Given the description of an element on the screen output the (x, y) to click on. 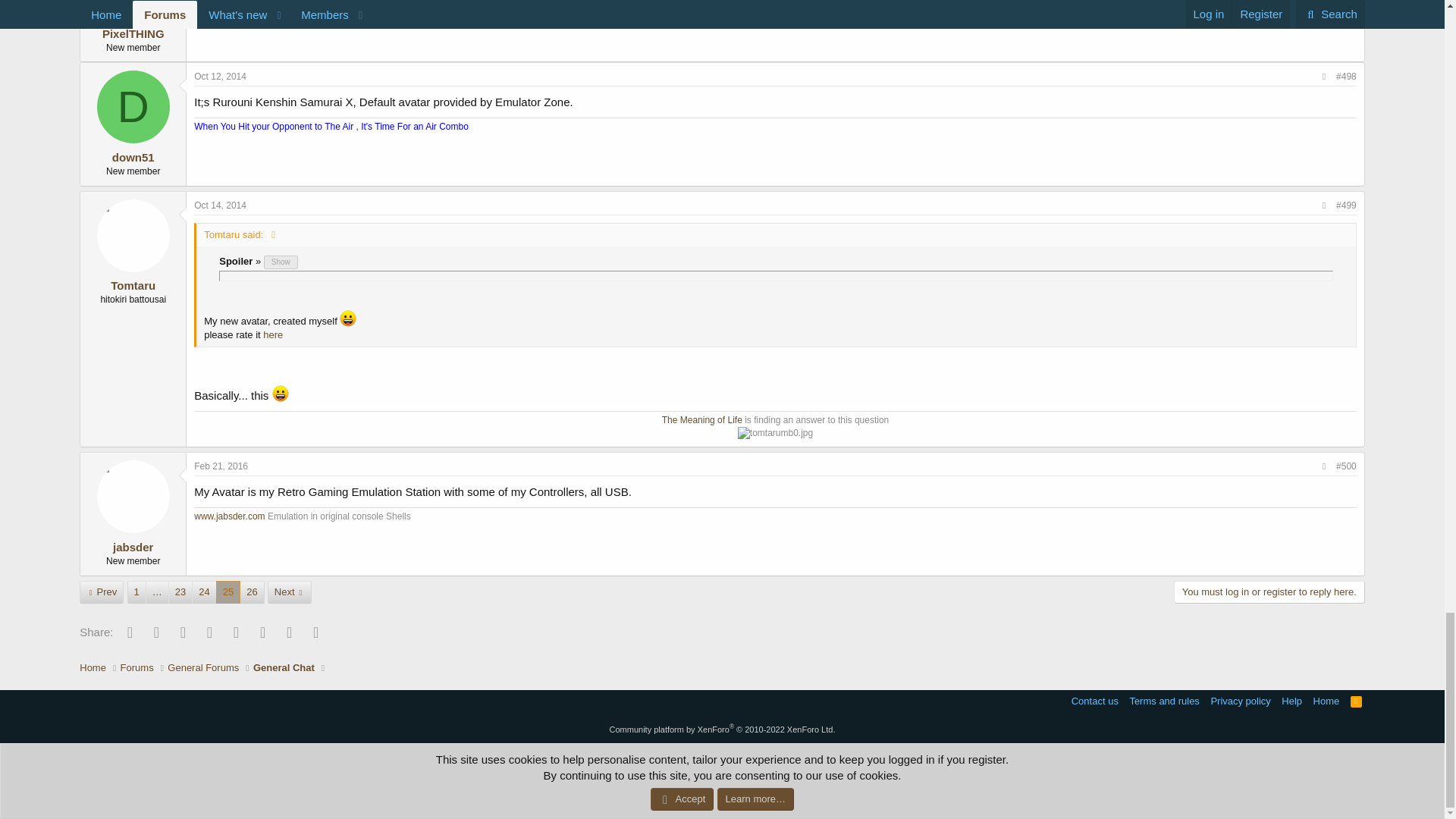
Show (280, 262)
